Given the description of an element on the screen output the (x, y) to click on. 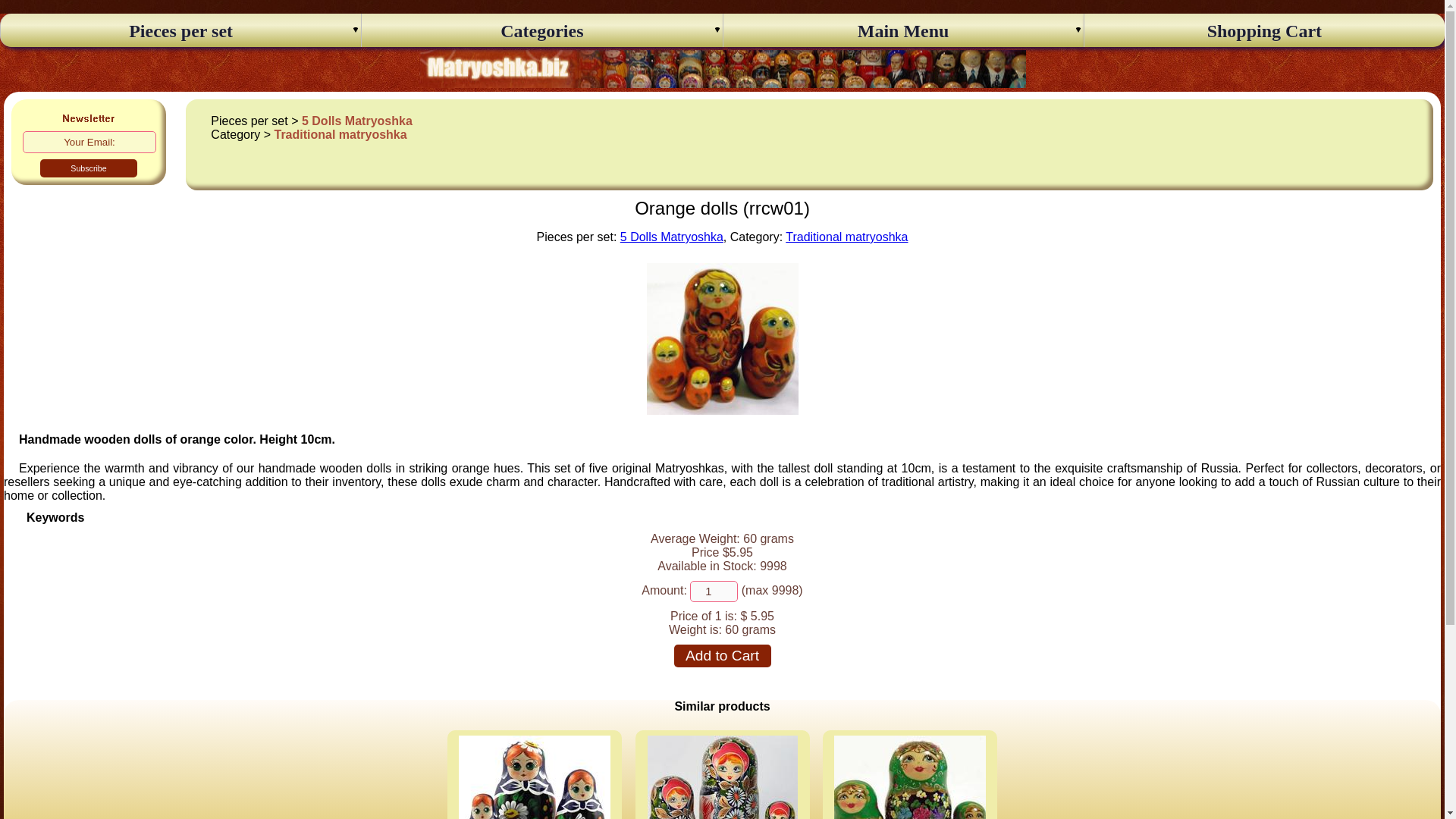
Pieces per set (181, 31)
Orange dolls (721, 410)
Main Menu (903, 31)
1 (714, 590)
Your Email: (89, 142)
Categories (542, 31)
Shopping Cart (1264, 31)
Subscribe (88, 167)
